Given the description of an element on the screen output the (x, y) to click on. 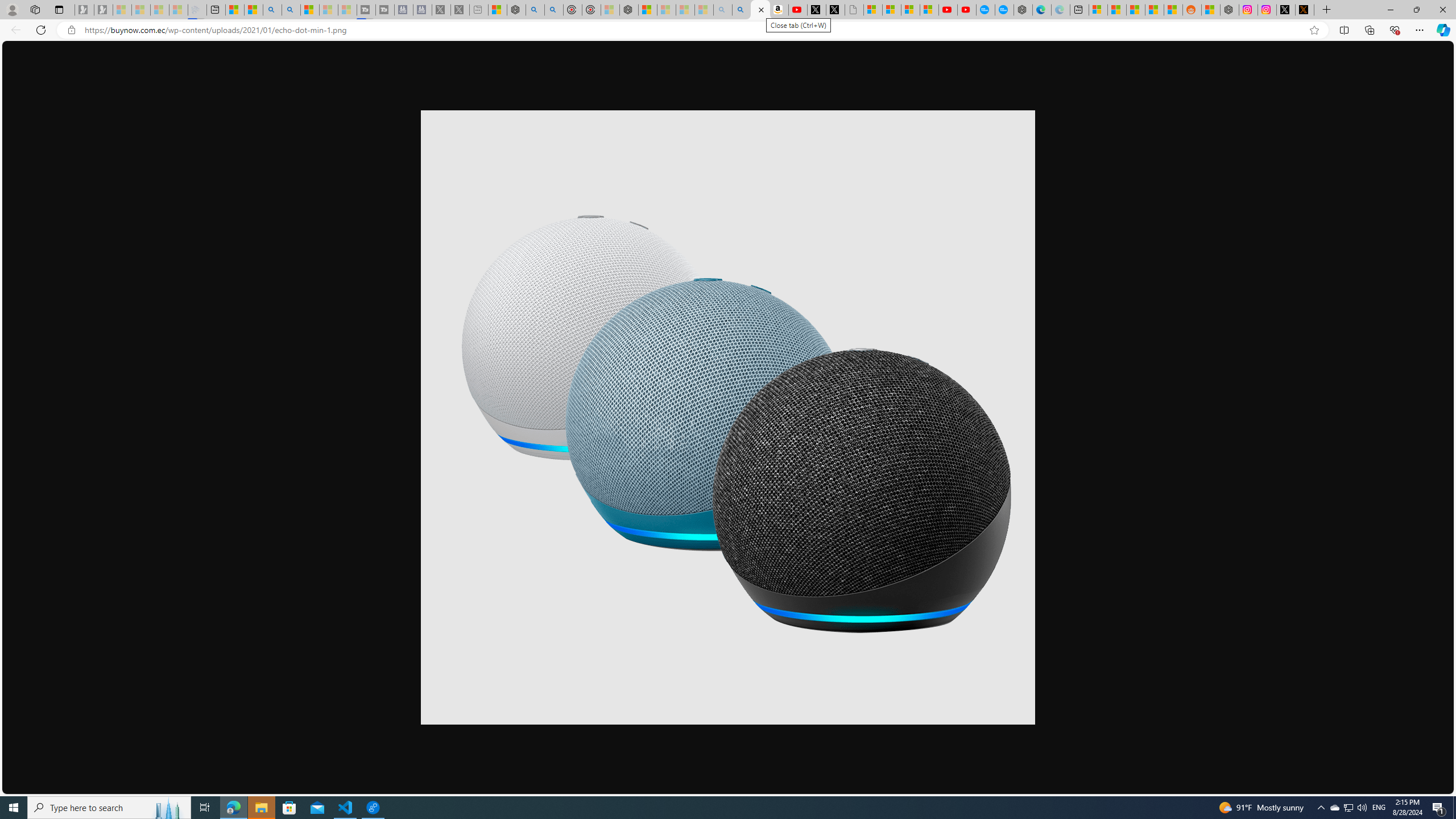
amazon - Search - Sleeping (722, 9)
Nordace - Nordace Siena Is Not An Ordinary Backpack (628, 9)
App bar (728, 29)
Streaming Coverage | T3 - Sleeping (366, 9)
Untitled (853, 9)
Shanghai, China hourly forecast | Microsoft Weather (1135, 9)
